Given the description of an element on the screen output the (x, y) to click on. 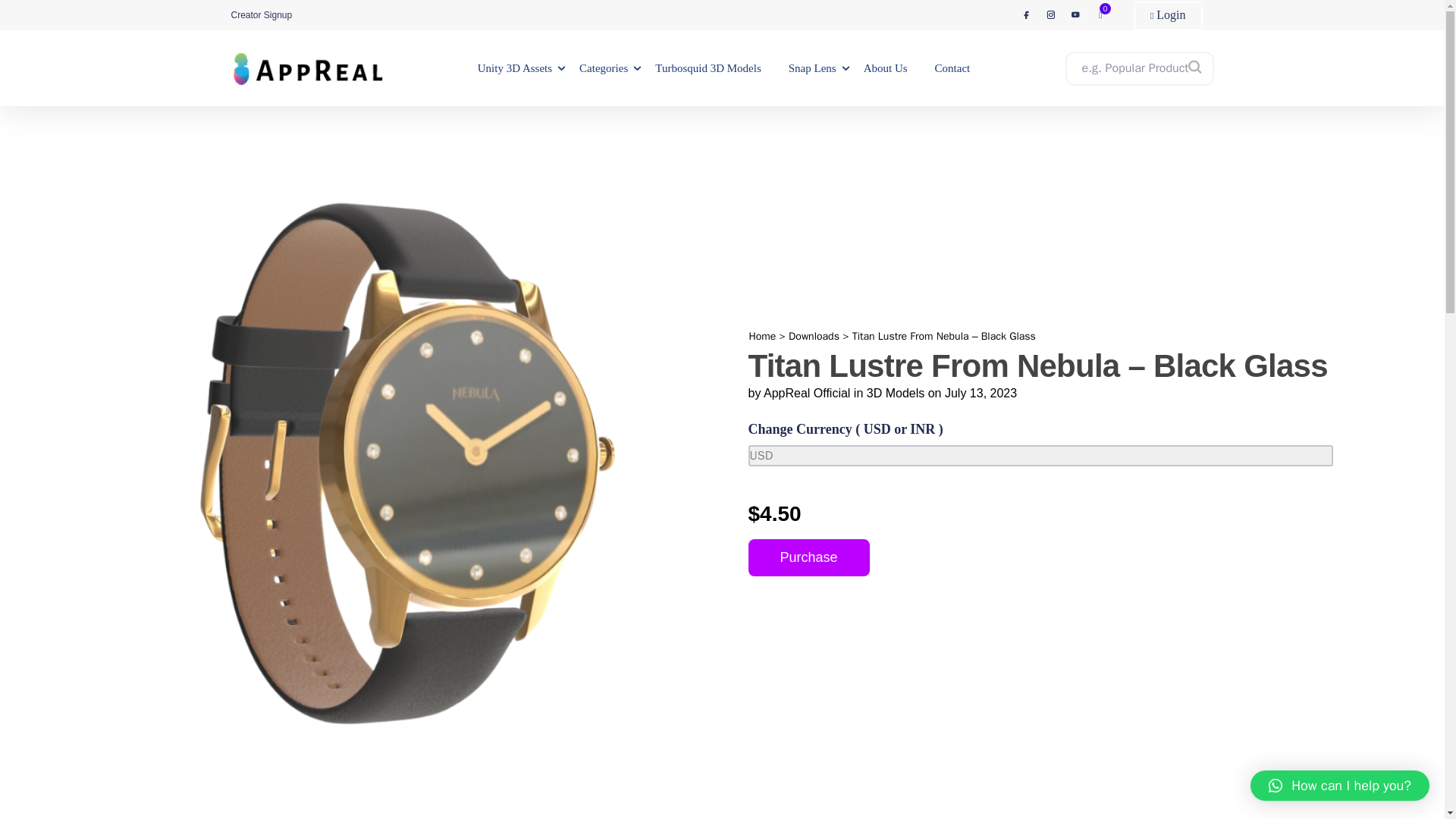
Turbosquid 3D Models (708, 67)
Unity 3D Assets (514, 67)
Unity 3D Assets (514, 67)
Creator Signup (261, 15)
Login (1168, 15)
Turbosquid 3D Models (708, 67)
